Given the description of an element on the screen output the (x, y) to click on. 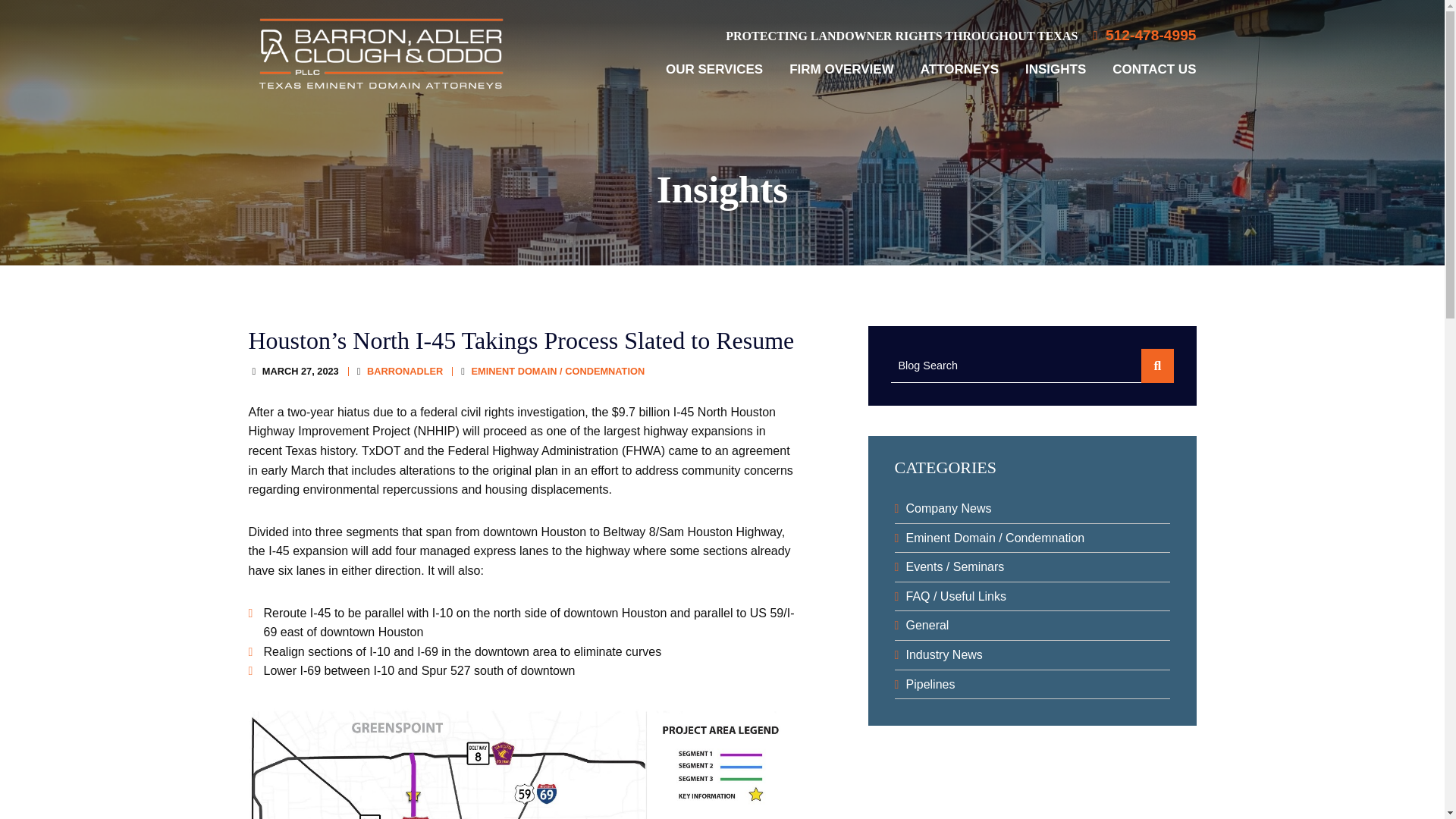
512-478-4995 (1144, 35)
OUR SERVICES (713, 69)
FIRM OVERVIEW (841, 69)
